Given the description of an element on the screen output the (x, y) to click on. 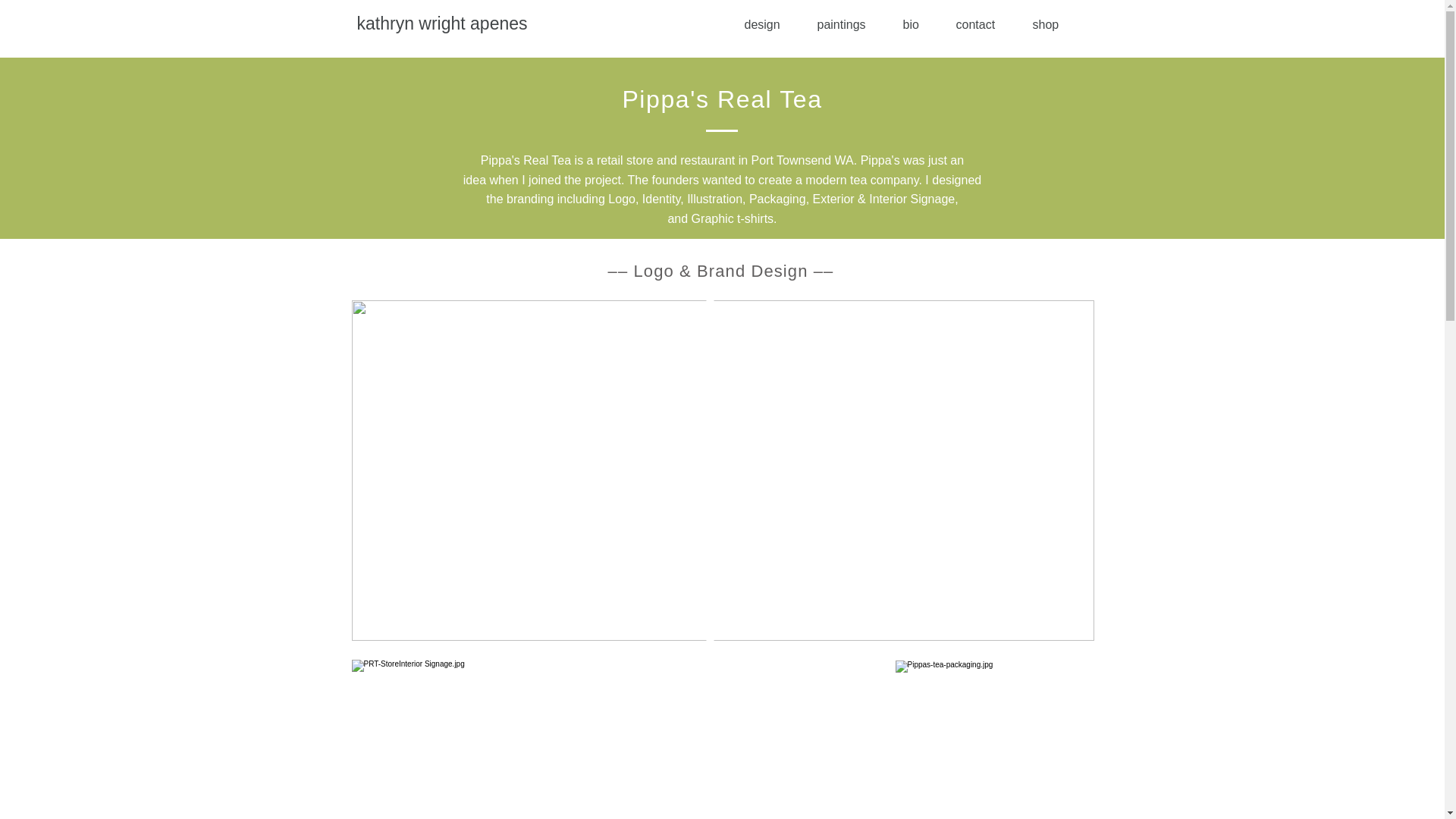
bio (917, 24)
contact (983, 24)
shop (1052, 24)
kathryn wright apenes (441, 23)
paintings (848, 24)
design (768, 24)
